Given the description of an element on the screen output the (x, y) to click on. 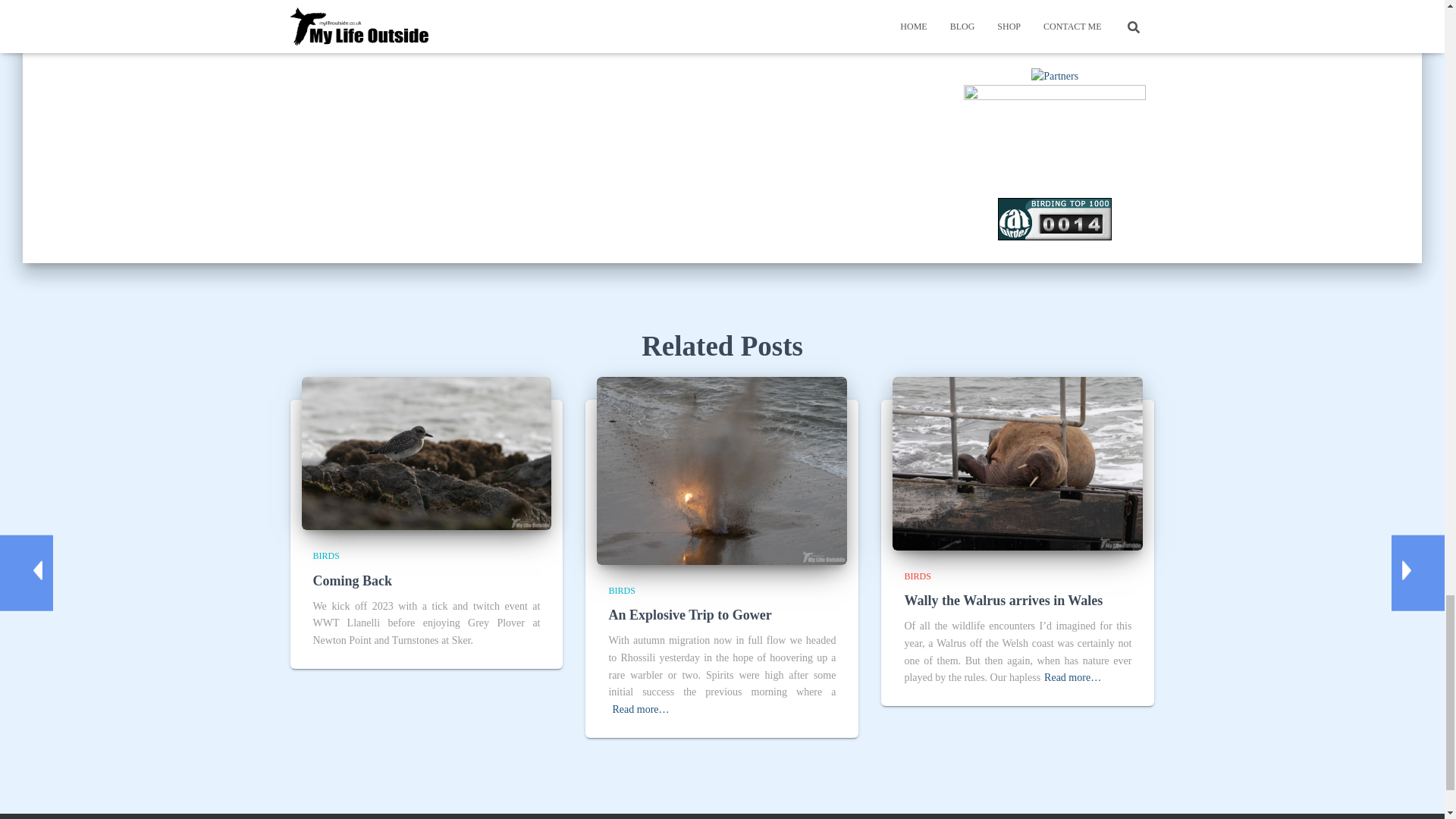
An Explosive Trip to Gower (721, 469)
View all posts in Birds (621, 590)
An Explosive Trip to Gower (689, 614)
View all posts in Birds (326, 555)
Coming Back (426, 452)
Coming Back (352, 580)
Wally the Walrus arrives in Wales (1017, 462)
View all posts in Birds (917, 575)
